Given the description of an element on the screen output the (x, y) to click on. 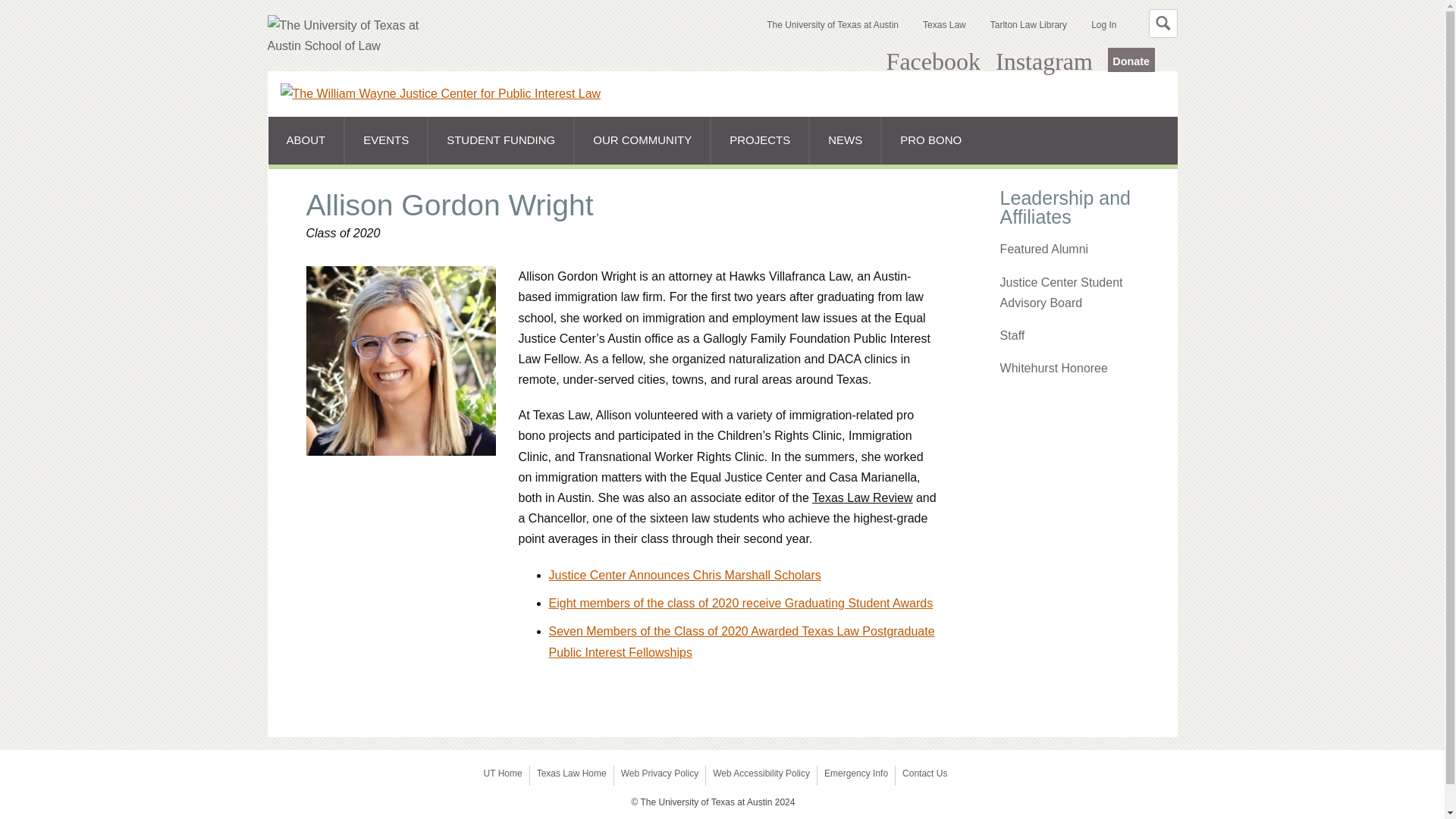
Tarlton Law Library (1028, 24)
NEWS (844, 139)
Donate (1131, 59)
Texas Law (944, 24)
Justice Center Announces Chris Marshall Scholars (684, 574)
Facebook (932, 60)
ABOUT (306, 139)
The University of Texas at Austin (832, 24)
Log In (1103, 24)
STUDENT FUNDING (500, 139)
